Given the description of an element on the screen output the (x, y) to click on. 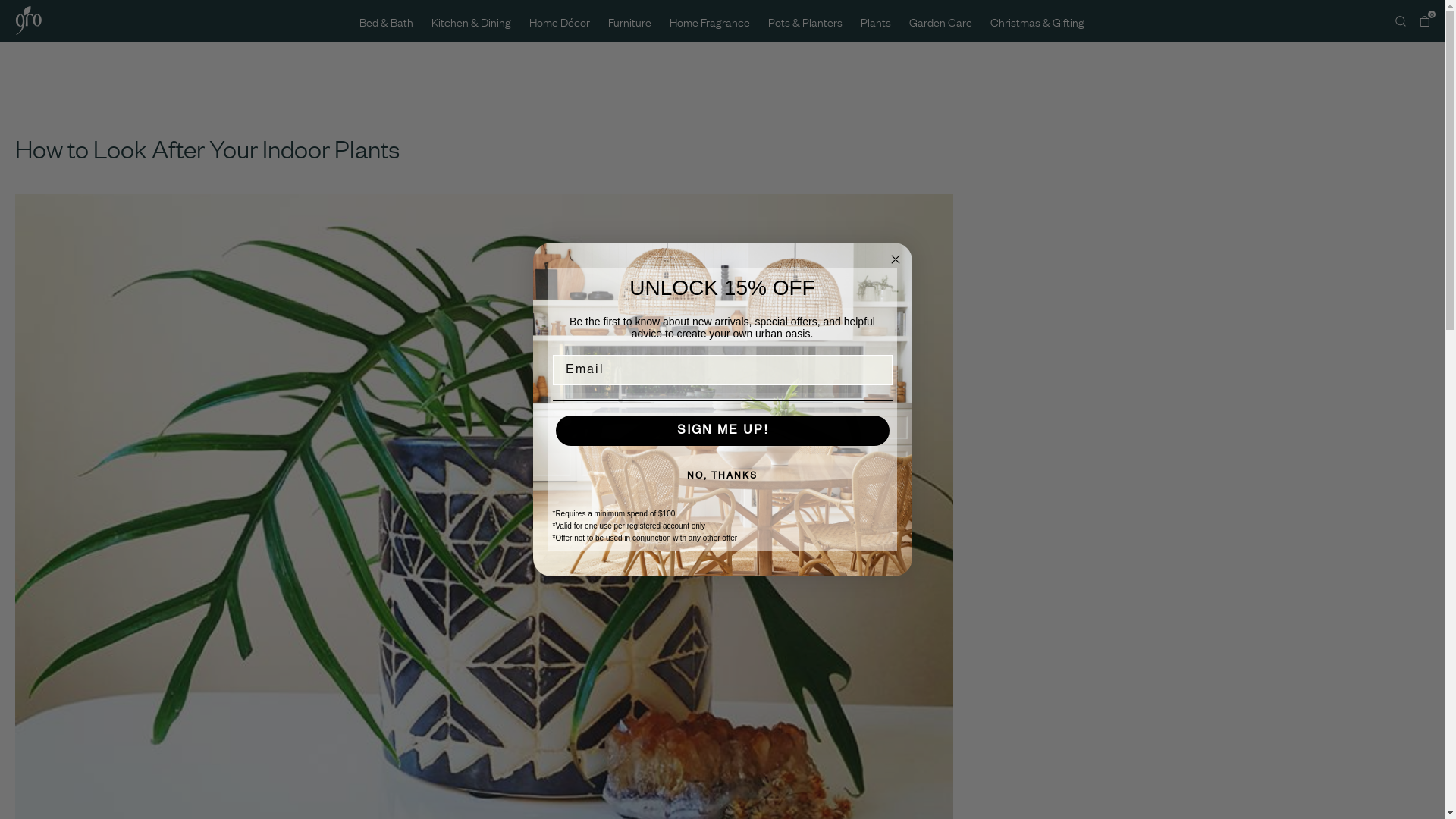
Christmas & Gifting Element type: text (1037, 20)
Cart
0 Element type: text (1424, 20)
SIGN ME UP! Element type: text (721, 430)
Plants Element type: text (875, 20)
Home Fragrance Element type: text (709, 20)
Bed & Bath Element type: text (386, 20)
Close dialog 1 Element type: text (894, 259)
Submit Element type: text (17, 8)
Kitchen & Dining Element type: text (471, 20)
Furniture Element type: text (629, 20)
Pots & Planters Element type: text (805, 20)
Garden Care Element type: text (940, 20)
NO, THANKS Element type: text (721, 476)
